Given the description of an element on the screen output the (x, y) to click on. 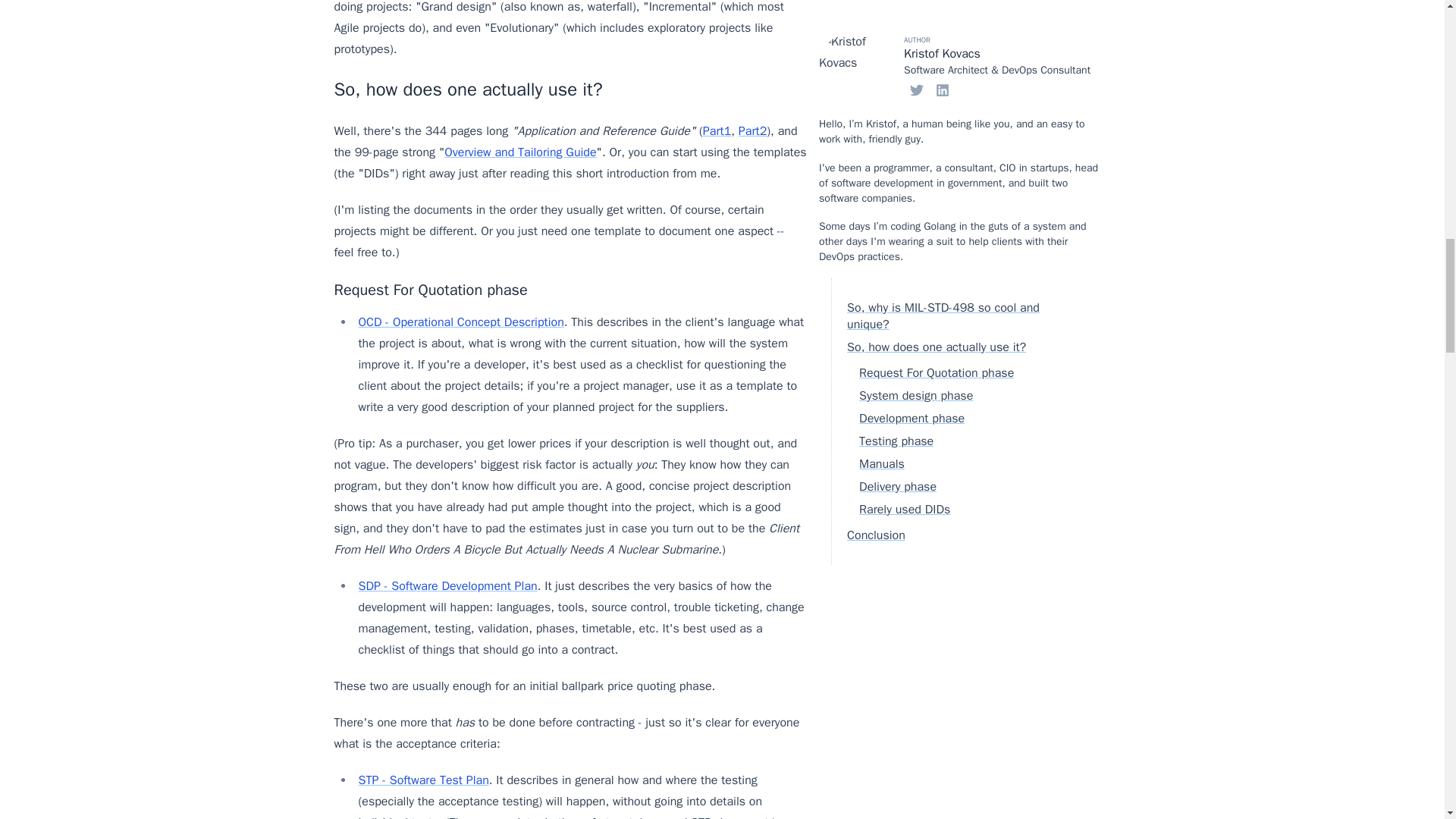
SDP - Software Development Plan (447, 585)
OCD - Operational Concept Description (460, 322)
Part2 (752, 130)
Overview and Tailoring Guide (519, 151)
STP - Software Test Plan (422, 780)
Part1 (716, 130)
